Given the description of an element on the screen output the (x, y) to click on. 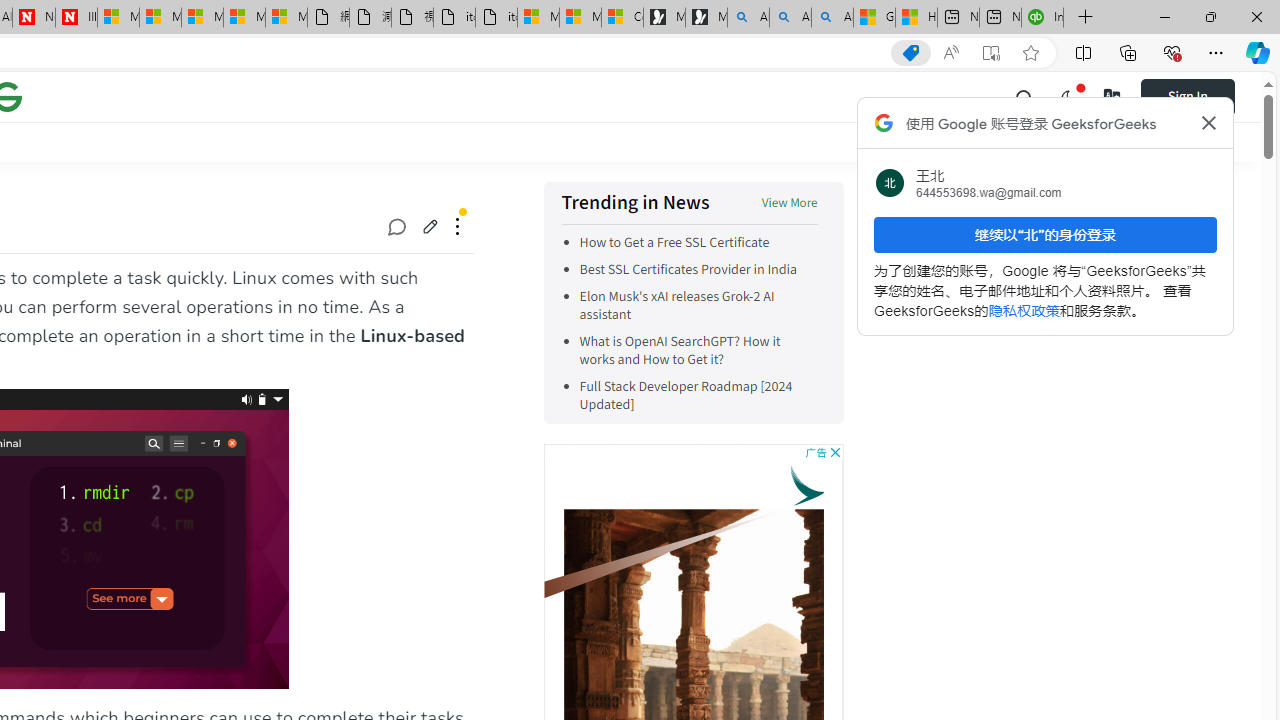
Full Stack Developer Roadmap [2024 Updated] (697, 395)
What is OpenAI SearchGPT? How it works and How to Get it? (697, 350)
Best SSL Certificates Provider in India (697, 269)
Elon Musk's xAI releases Grok-2 AI assistant (697, 306)
search (1025, 96)
itconcepthk.com/projector_solutions.mp4 (496, 17)
Alabama high school quarterback dies - Search Videos (831, 17)
Illness news & latest pictures from Newsweek.com (76, 17)
How to Get a Free SSL Certificate (674, 242)
Sign In (1187, 96)
